Given the description of an element on the screen output the (x, y) to click on. 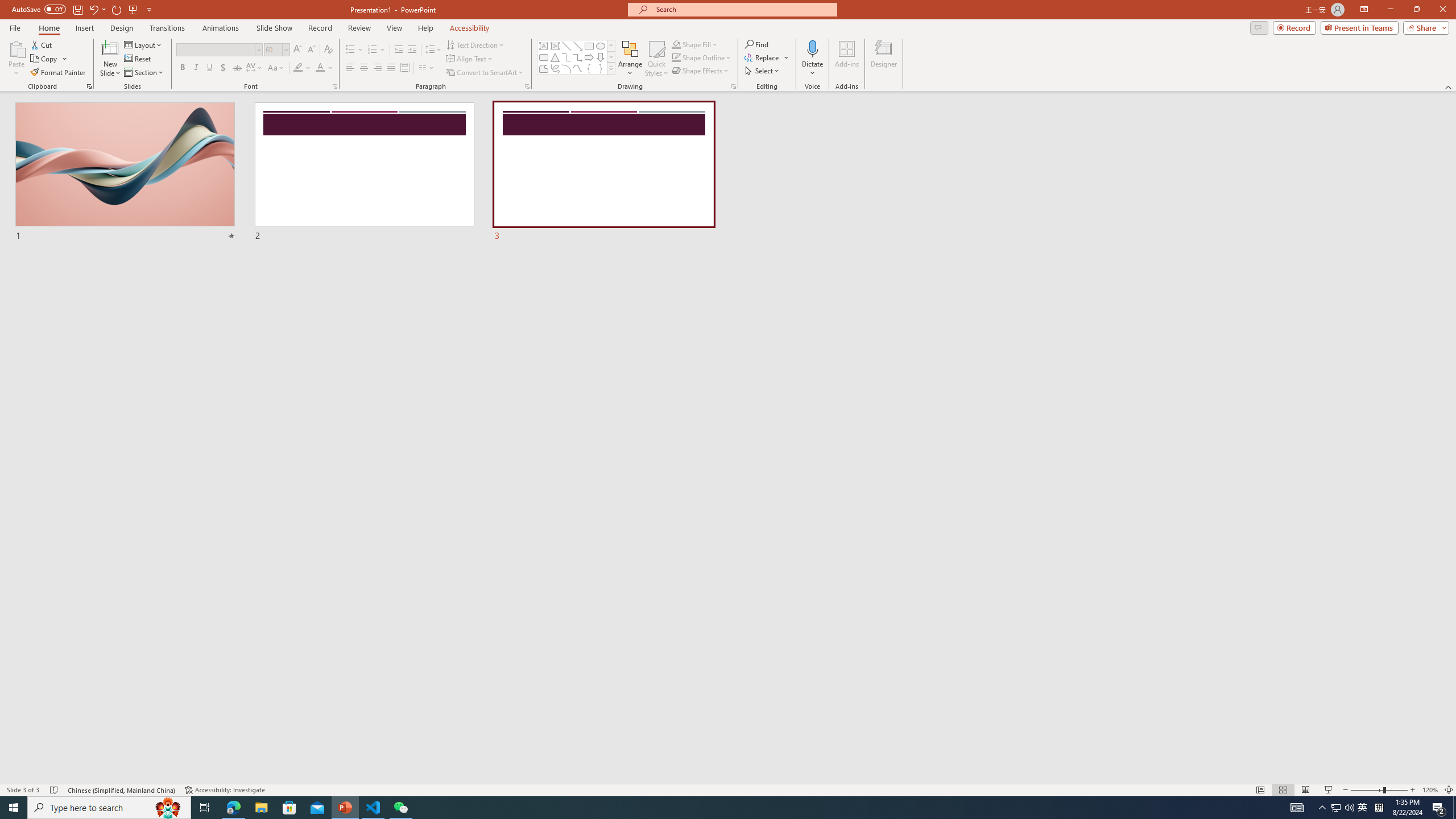
Zoom 120% (1430, 790)
